Given the description of an element on the screen output the (x, y) to click on. 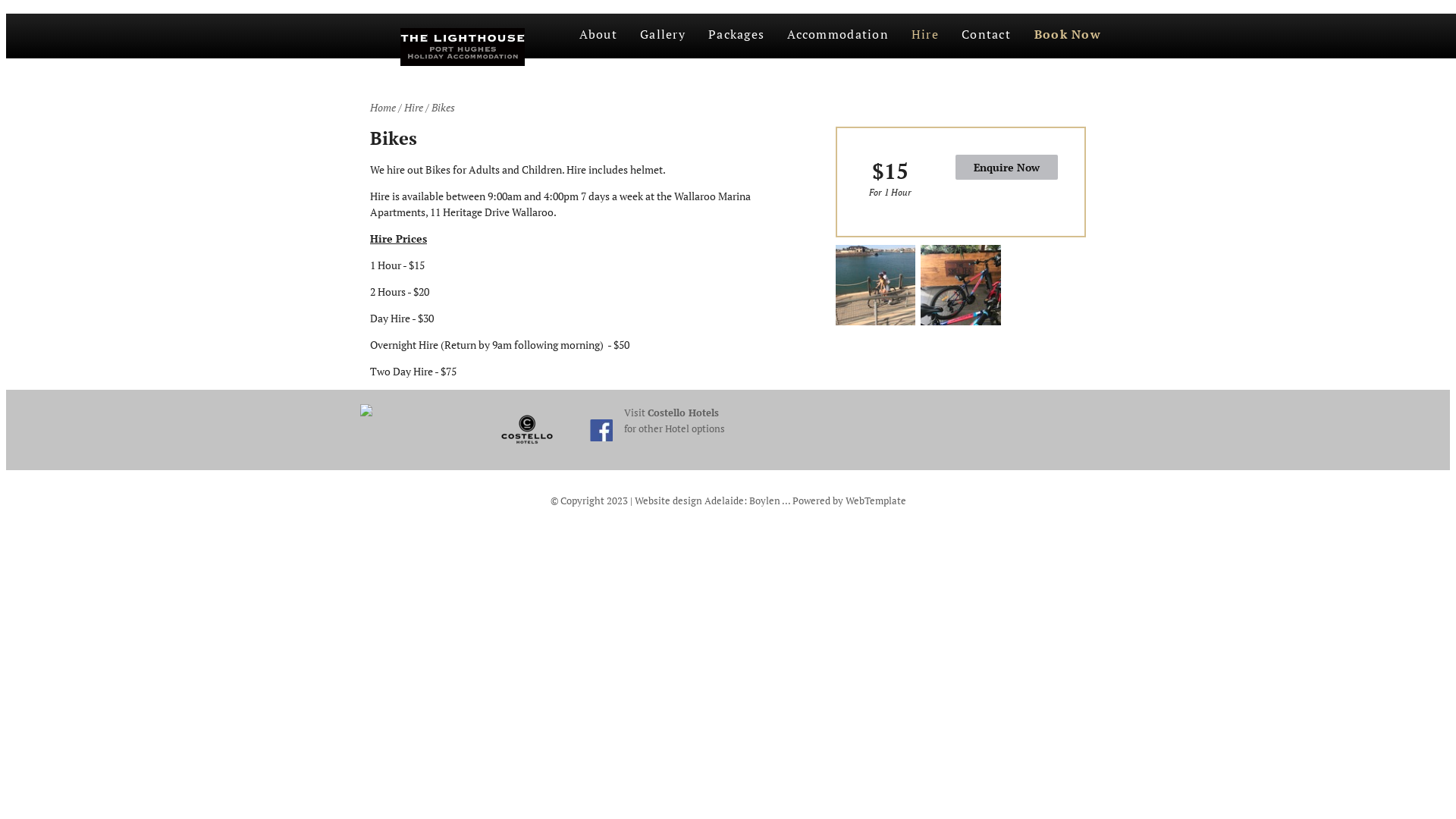
Accommodation Element type: text (837, 35)
Costello Hotels Element type: text (682, 412)
facebook_logo.png Element type: hover (600, 430)
Enquire Now Element type: text (1006, 166)
About Element type: text (597, 35)
Gallery Element type: text (662, 35)
Book Now Element type: text (1067, 34)
Home Element type: text (382, 107)
Hire Element type: text (413, 107)
Website design Adelaide: Boylen Element type: text (706, 500)
IMG_2875.jpg Element type: hover (875, 284)
Packages Element type: text (735, 35)
Contact Element type: text (986, 35)
Bikes Element type: text (443, 107)
Hire Element type: text (925, 35)
Powered by WebTemplate Element type: text (848, 500)
IMG_4704.JPG Element type: hover (960, 284)
Costello Hotels Logo.png Element type: hover (526, 429)
